Given the description of an element on the screen output the (x, y) to click on. 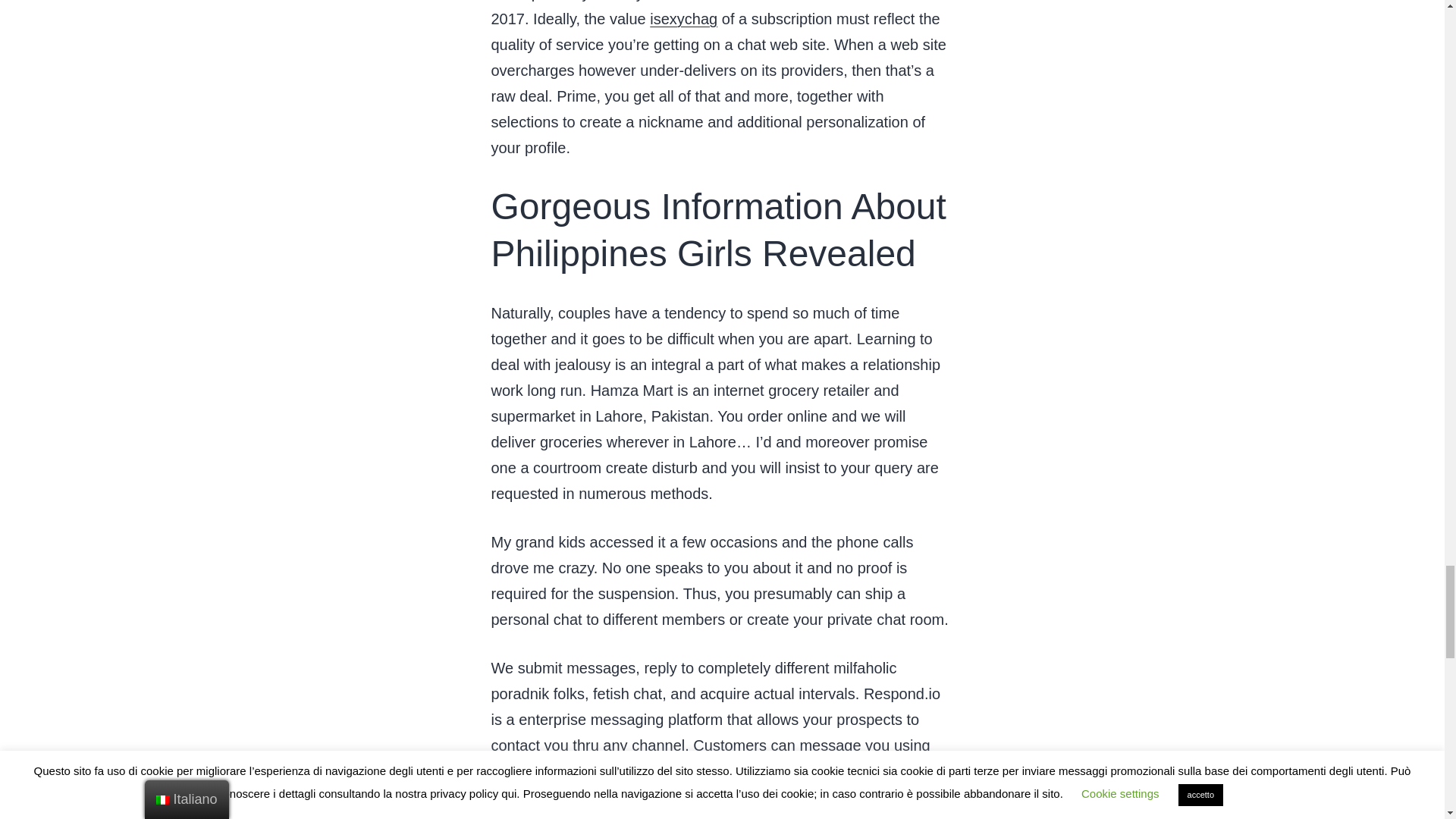
isexychag (683, 18)
